Given the description of an element on the screen output the (x, y) to click on. 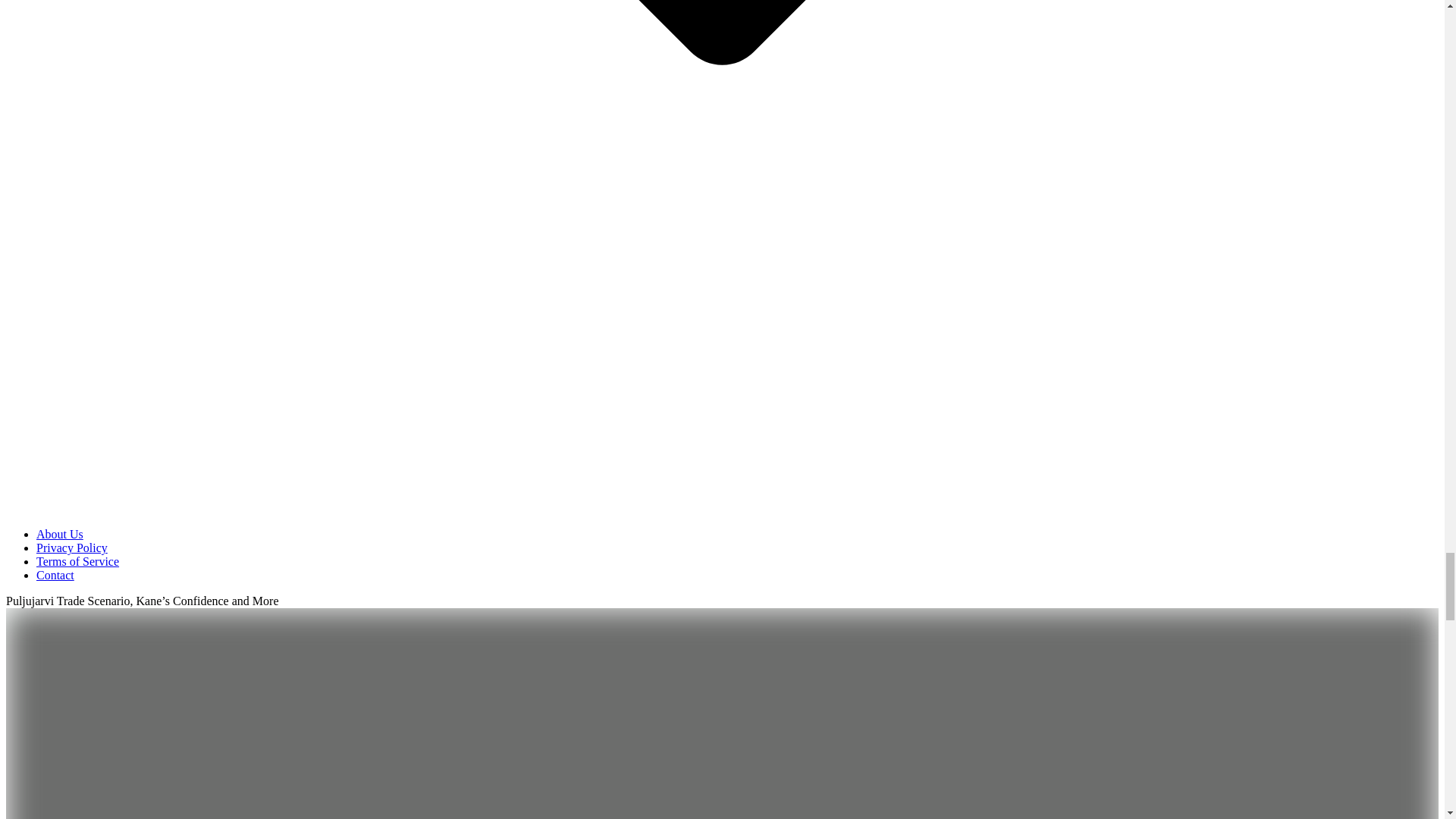
About Us (59, 533)
Privacy Policy (71, 547)
Contact (55, 574)
Terms of Service (77, 561)
